Given the description of an element on the screen output the (x, y) to click on. 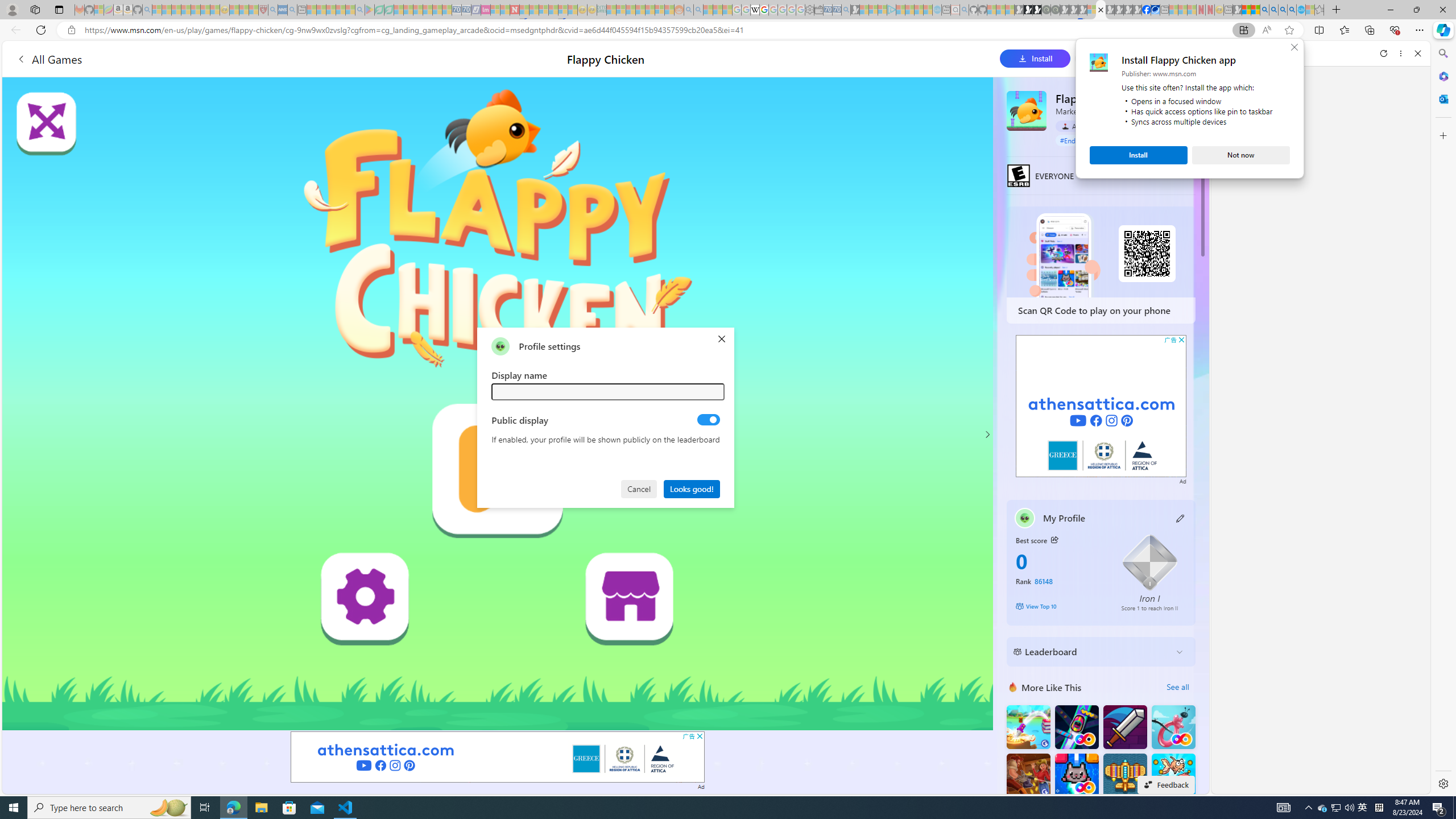
Q2790: 100% (1349, 807)
All Games (212, 58)
Balloon FRVR (1173, 726)
Nordace | Facebook (1146, 9)
AutomationID: 4105 (1283, 807)
Advertisement (1101, 405)
Target page - Wikipedia (754, 9)
